Given the description of an element on the screen output the (x, y) to click on. 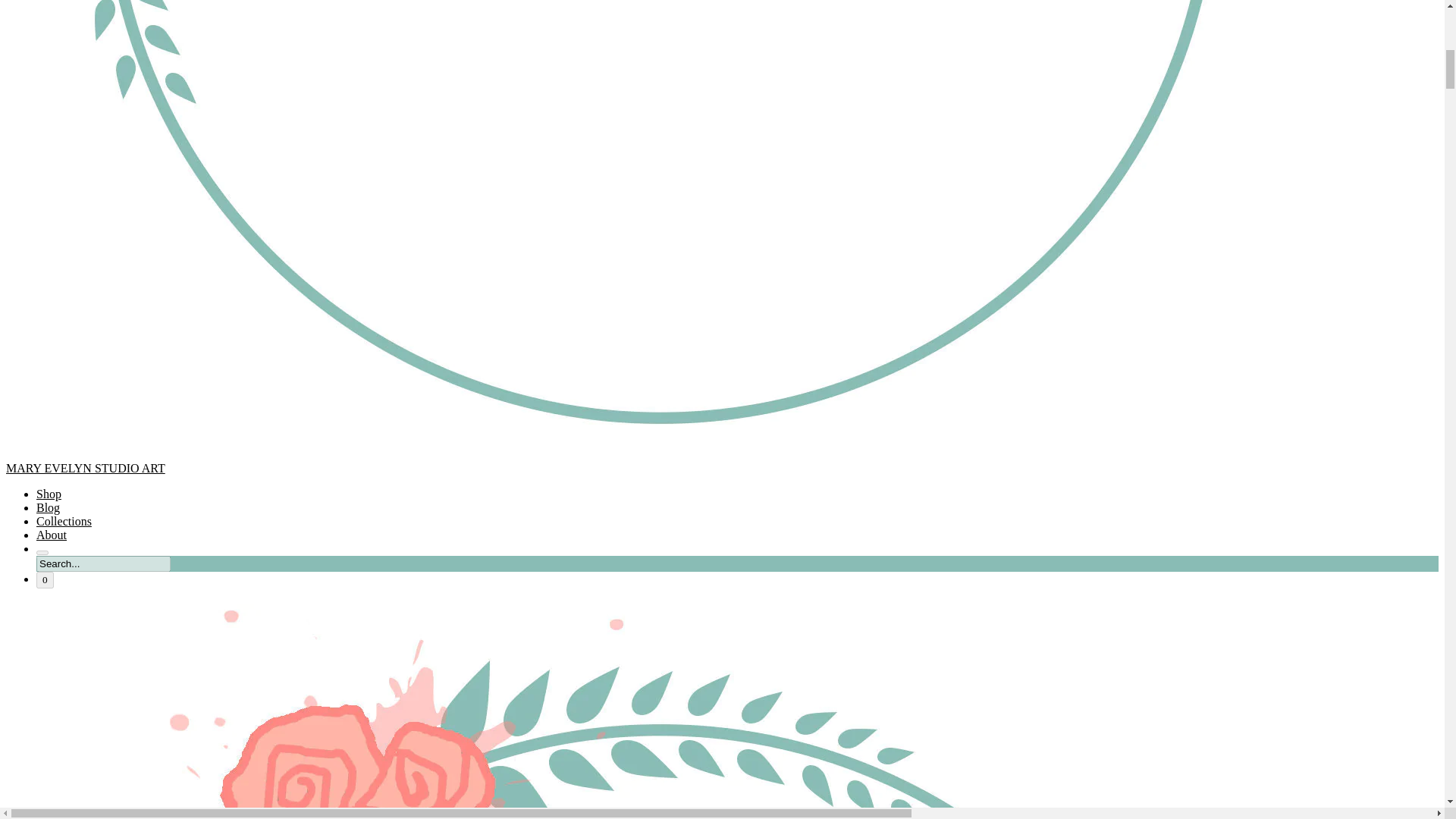
Shop (48, 493)
Blog (47, 507)
About (51, 534)
0 (44, 579)
Collections (63, 521)
